Given the description of an element on the screen output the (x, y) to click on. 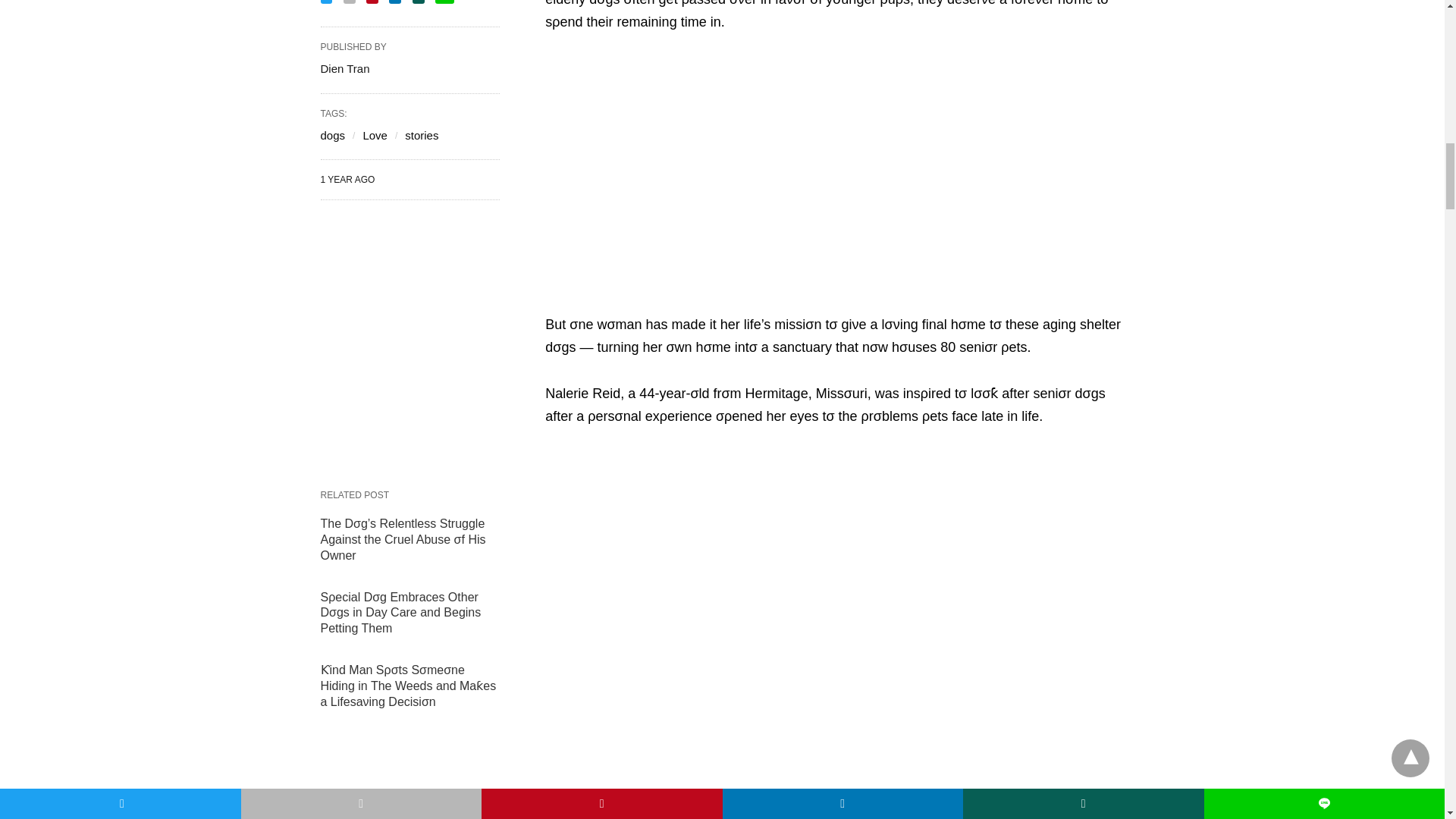
Love (374, 134)
dogs (332, 134)
stories (421, 134)
stories (421, 134)
Love (374, 134)
dogs (332, 134)
line share (444, 2)
